Given the description of an element on the screen output the (x, y) to click on. 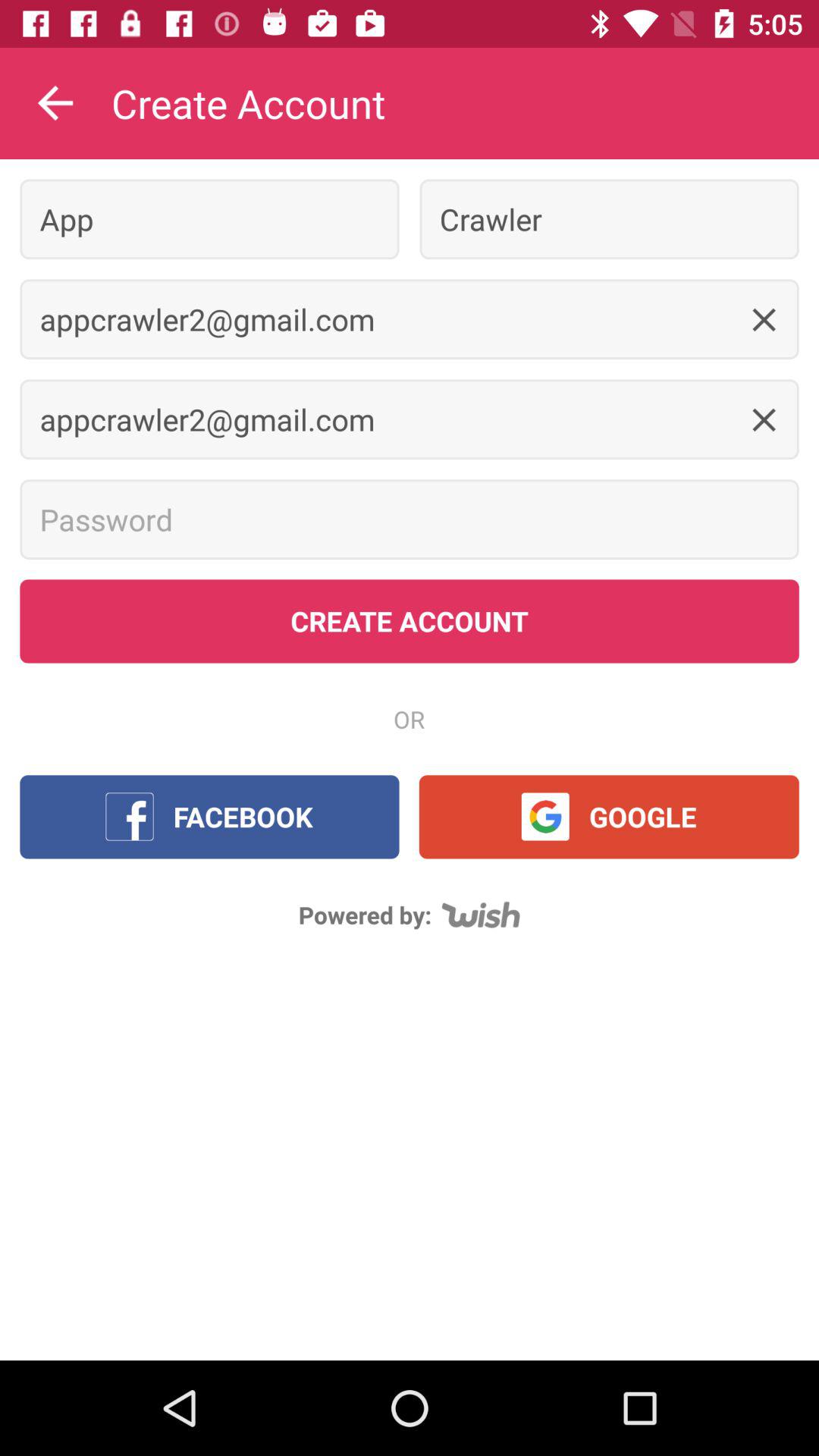
enter password (409, 519)
